Given the description of an element on the screen output the (x, y) to click on. 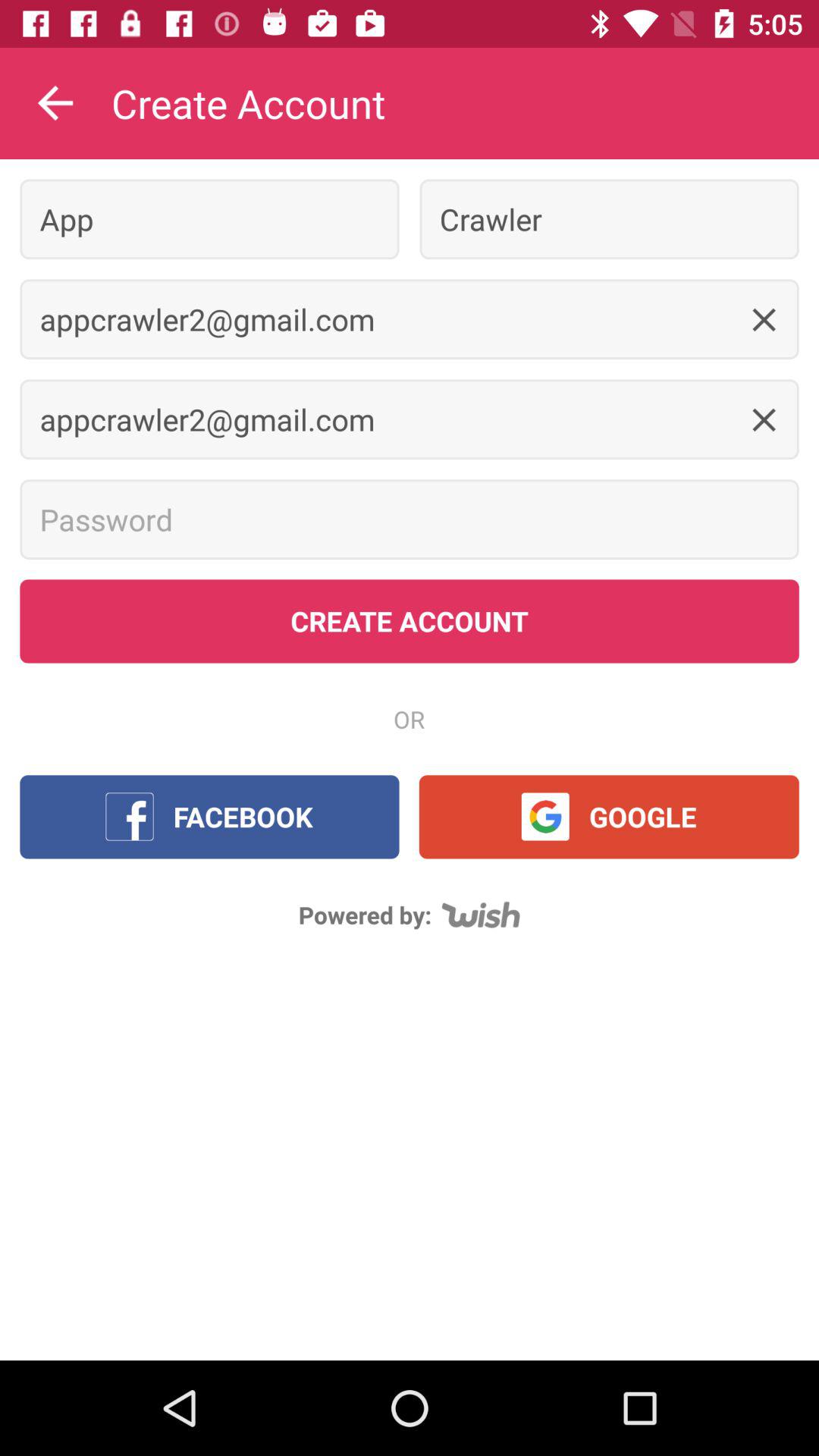
enter password (409, 519)
